Given the description of an element on the screen output the (x, y) to click on. 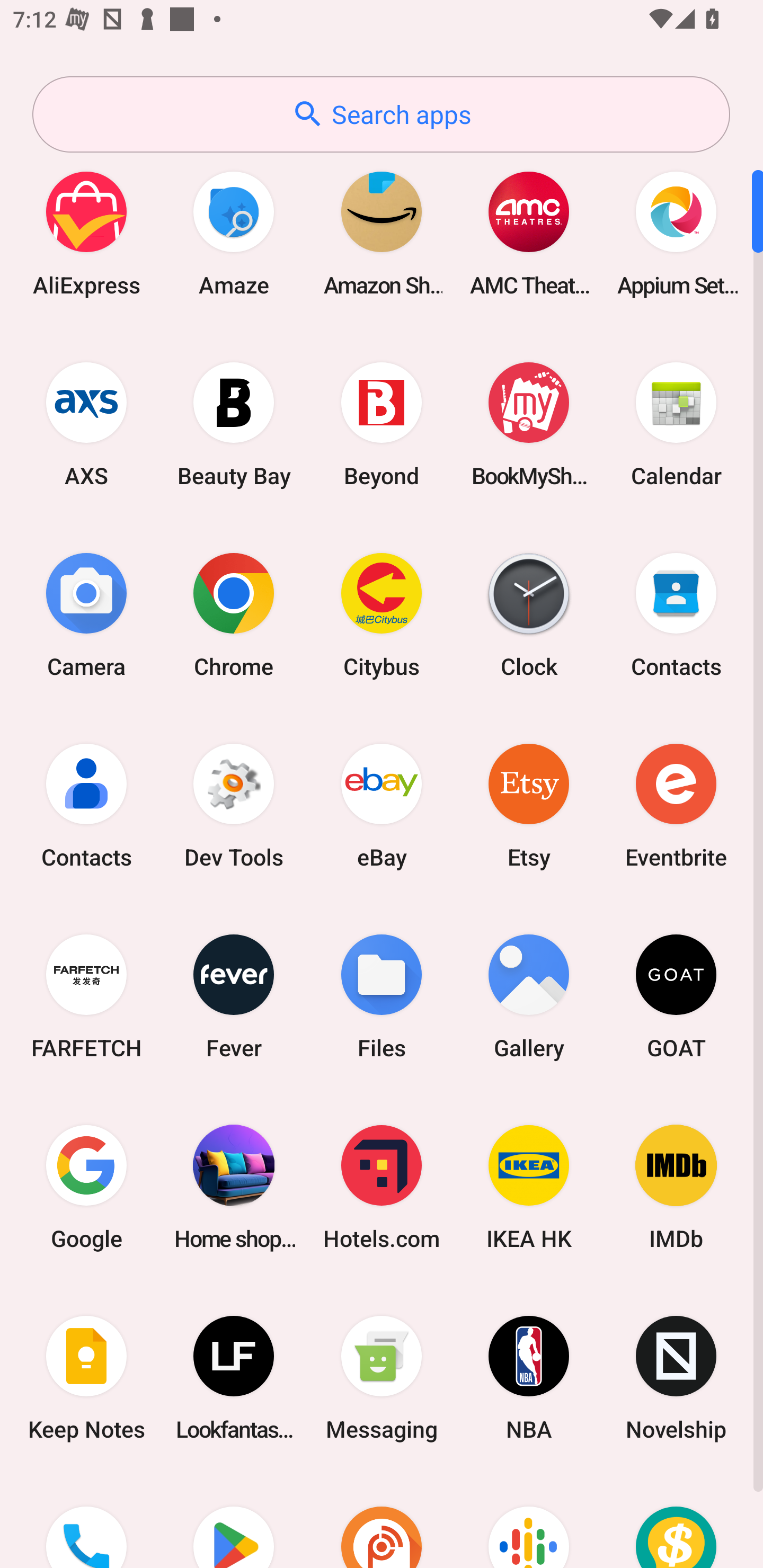
  Search apps (381, 114)
AliExpress (86, 233)
Amaze (233, 233)
Amazon Shopping (381, 233)
AMC Theatres (528, 233)
Appium Settings (676, 233)
AXS (86, 424)
Beauty Bay (233, 424)
Beyond (381, 424)
BookMyShow (528, 424)
Calendar (676, 424)
Camera (86, 614)
Chrome (233, 614)
Citybus (381, 614)
Clock (528, 614)
Contacts (676, 614)
Contacts (86, 805)
Dev Tools (233, 805)
eBay (381, 805)
Etsy (528, 805)
Eventbrite (676, 805)
FARFETCH (86, 996)
Fever (233, 996)
Files (381, 996)
Gallery (528, 996)
GOAT (676, 996)
Google (86, 1186)
Home shopping (233, 1186)
Hotels.com (381, 1186)
IKEA HK (528, 1186)
IMDb (676, 1186)
Keep Notes (86, 1377)
Lookfantastic (233, 1377)
Messaging (381, 1377)
NBA (528, 1377)
Novelship (676, 1377)
Phone (86, 1520)
Play Store (233, 1520)
Podcast Addict (381, 1520)
Podcasts (528, 1520)
Price (676, 1520)
